Given the description of an element on the screen output the (x, y) to click on. 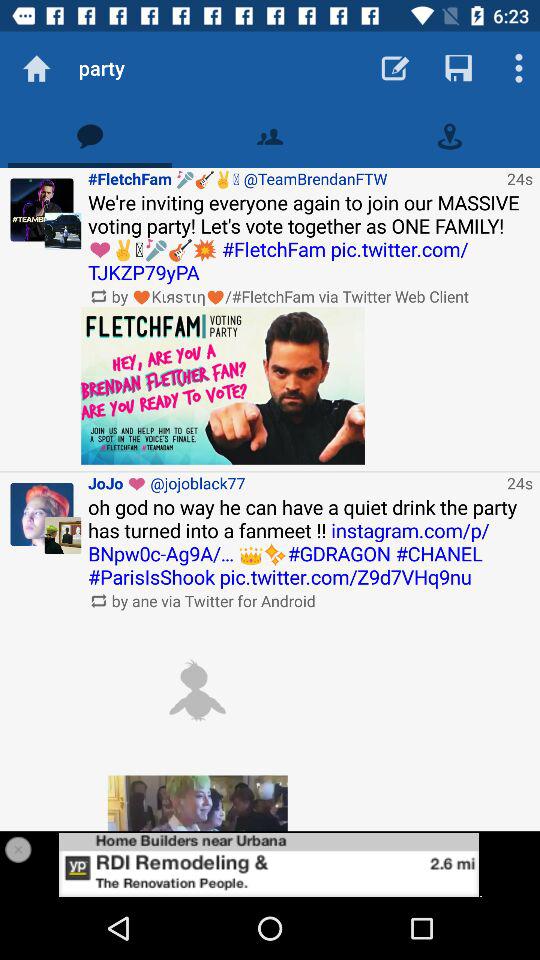
get notification (90, 136)
